Given the description of an element on the screen output the (x, y) to click on. 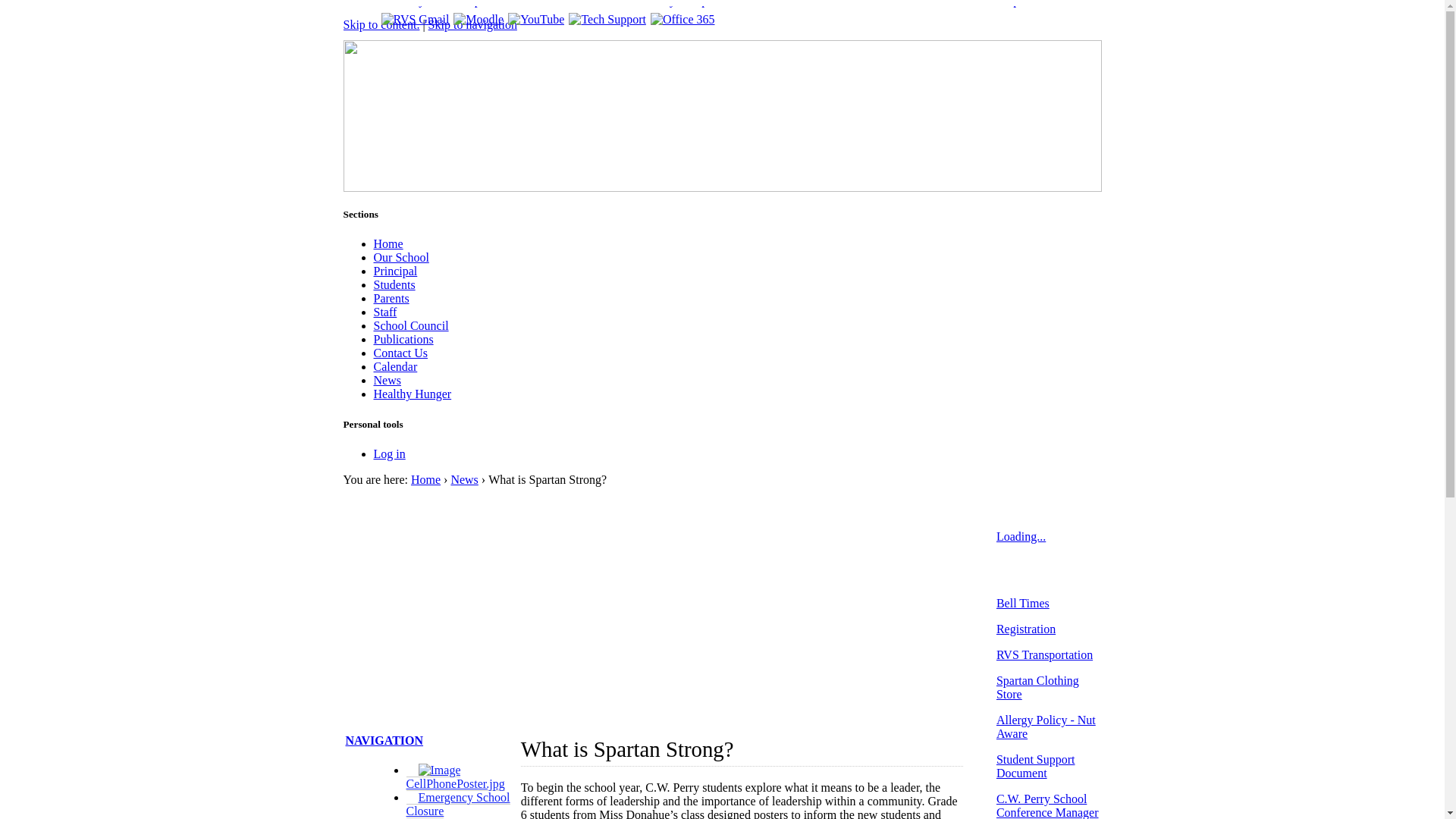
RVS Gmail Element type: hover (414, 18)
CellPhonePoster.jpg Element type: text (455, 776)
Loading... Element type: text (1020, 536)
Our School Element type: text (400, 257)
News Element type: text (463, 479)
News Element type: text (386, 379)
Tech Support Element type: hover (607, 18)
Skip to navigation Element type: text (472, 24)
Office 365 Element type: hover (682, 18)
Student Support Document Element type: text (1035, 766)
Publications Element type: text (403, 338)
Students Element type: text (393, 284)
Home Element type: text (425, 479)
Spartan Clothing Store Element type: text (1037, 687)
Staff Element type: text (384, 311)
Skip to content. Element type: text (380, 24)
RVS Transportation Element type: text (1044, 654)
Allergy Policy - Nut Aware Element type: text (1045, 726)
Search Element type: text (1074, 56)
Registration Element type: text (1025, 628)
Bell Times Element type: text (1022, 602)
Principal Element type: text (395, 270)
NAVIGATION Element type: text (384, 740)
Home Element type: text (387, 243)
Healthy Hunger Element type: text (412, 393)
Emergency School Closure Element type: text (458, 804)
School Council Element type: text (410, 325)
YouTube Element type: hover (536, 18)
Parents Element type: text (390, 297)
Contact Us Element type: text (400, 352)
Calendar Element type: text (395, 366)
Log in Element type: text (388, 453)
Moodle Element type: hover (478, 18)
